Given the description of an element on the screen output the (x, y) to click on. 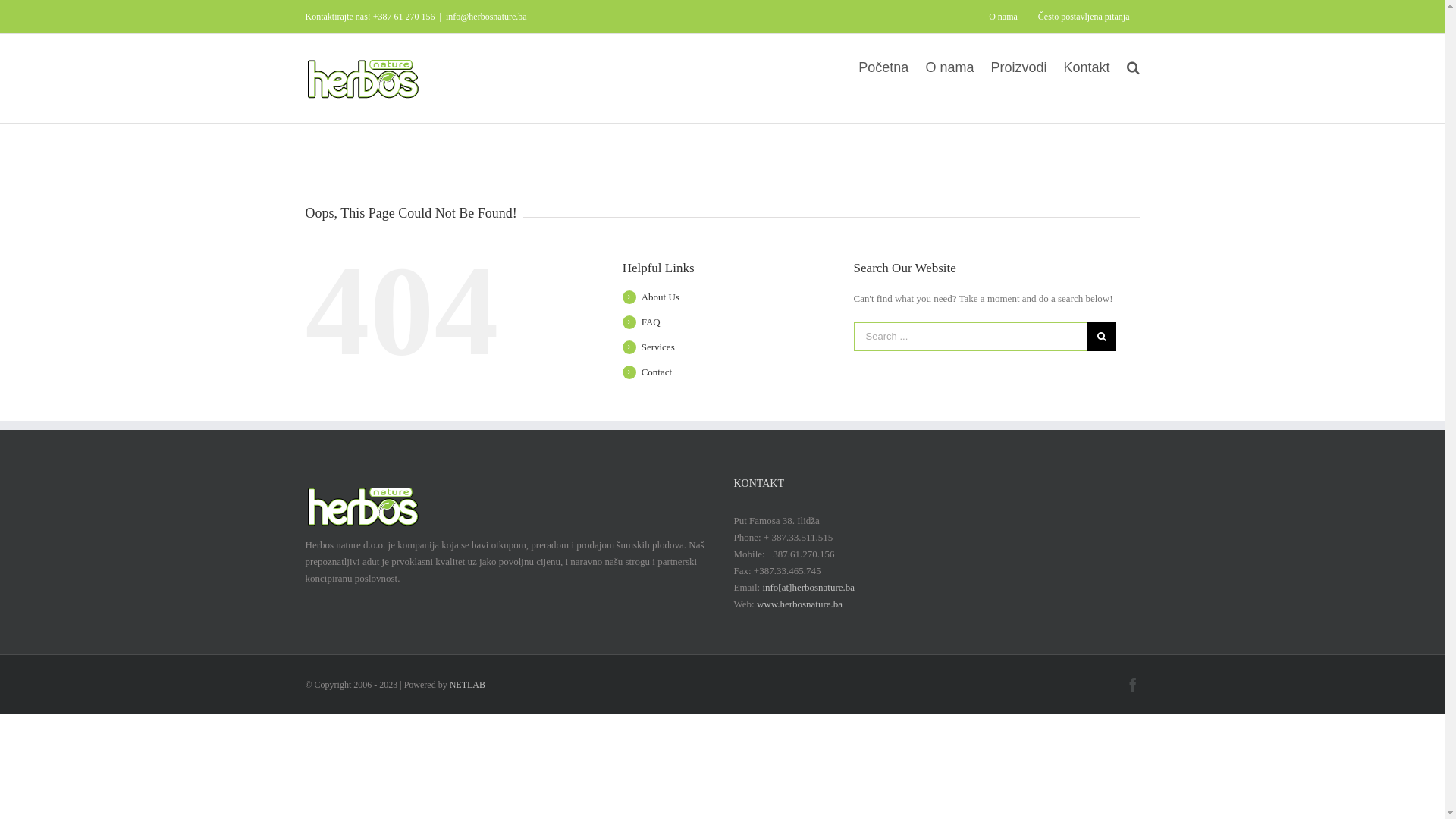
O nama Element type: text (1003, 16)
info[at]herbosnature.ba Element type: text (808, 587)
www.herbosnature.ba Element type: text (799, 603)
info@herbosnature.ba Element type: text (486, 16)
About Us Element type: text (660, 296)
FAQ Element type: text (650, 321)
Proizvodi Element type: text (1018, 66)
O nama Element type: text (949, 66)
Kontakt Element type: text (1086, 66)
Contact Element type: text (656, 371)
NETLAB Element type: text (467, 684)
Facebook Element type: text (1132, 684)
Services Element type: text (657, 346)
